Given the description of an element on the screen output the (x, y) to click on. 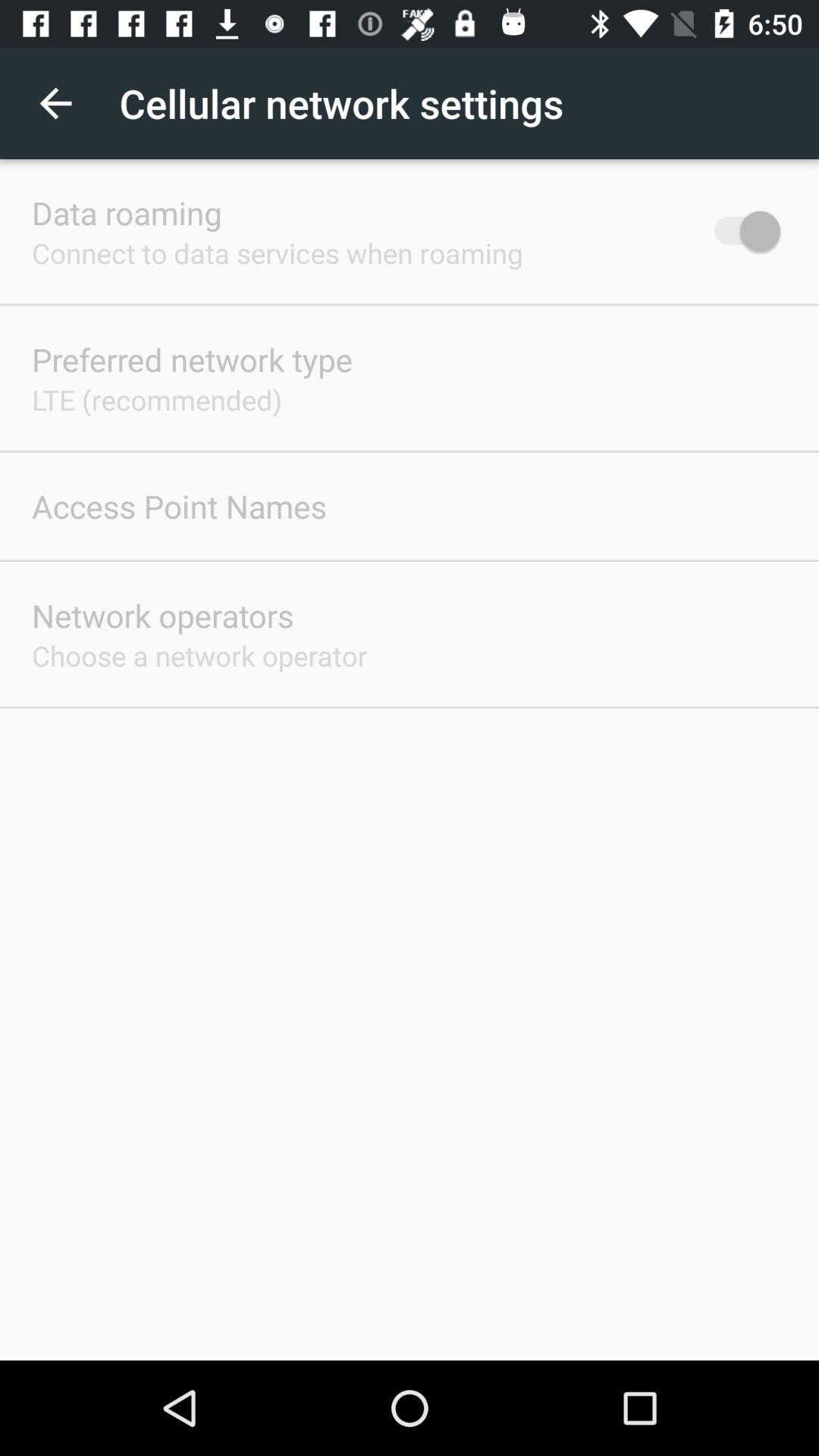
launch the icon next to the connect to data item (739, 231)
